Given the description of an element on the screen output the (x, y) to click on. 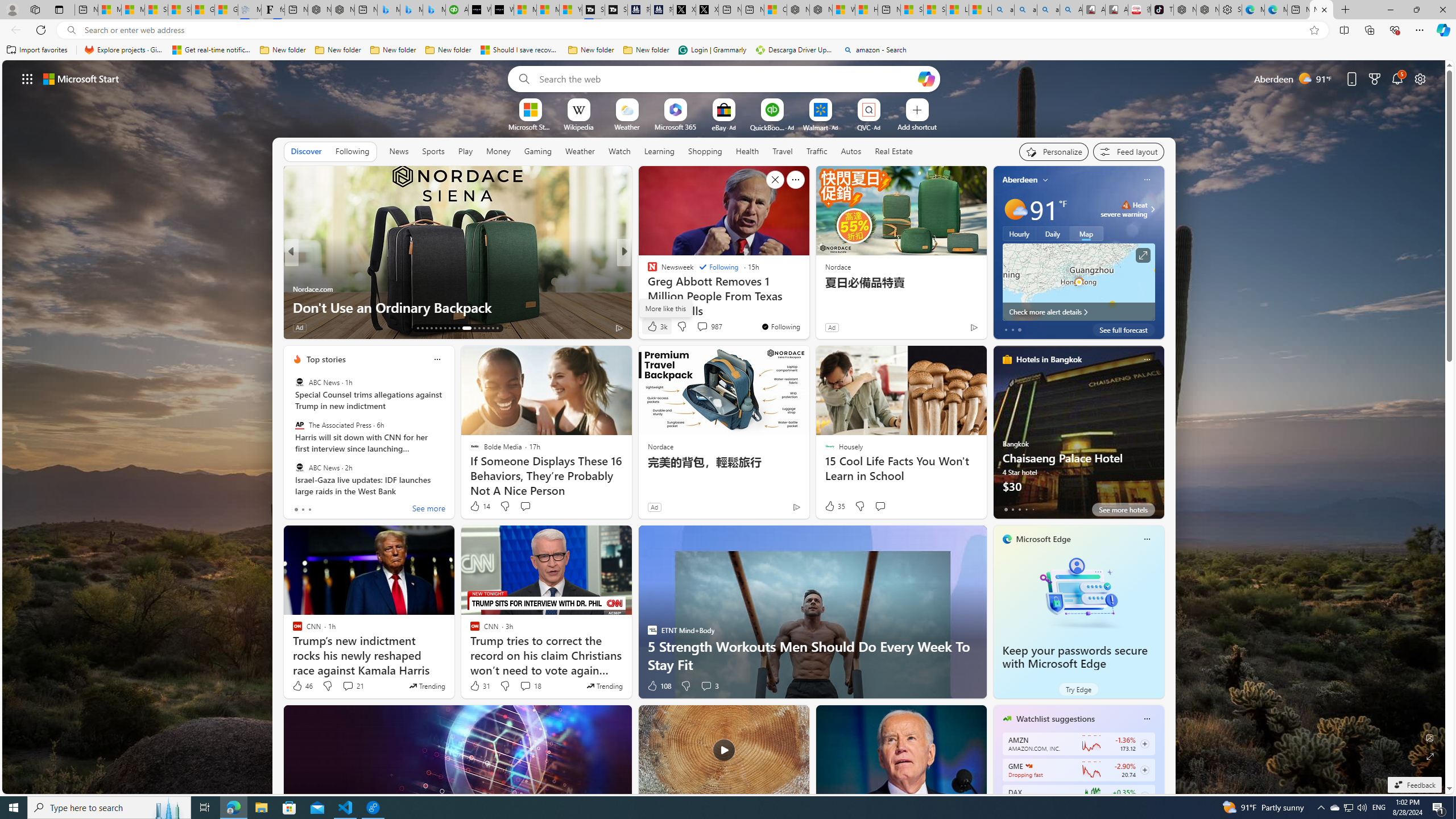
News (398, 151)
Class: weather-arrow-glyph (1152, 208)
amazon - Search Images (1048, 9)
Learning (659, 151)
Class: icon-img (1146, 718)
ABC News (299, 466)
tab-0 (1005, 509)
AutomationID: waffle (27, 78)
Feedback (1414, 784)
Autos (851, 151)
45 Like (652, 327)
tab-3 (1025, 509)
